Given the description of an element on the screen output the (x, y) to click on. 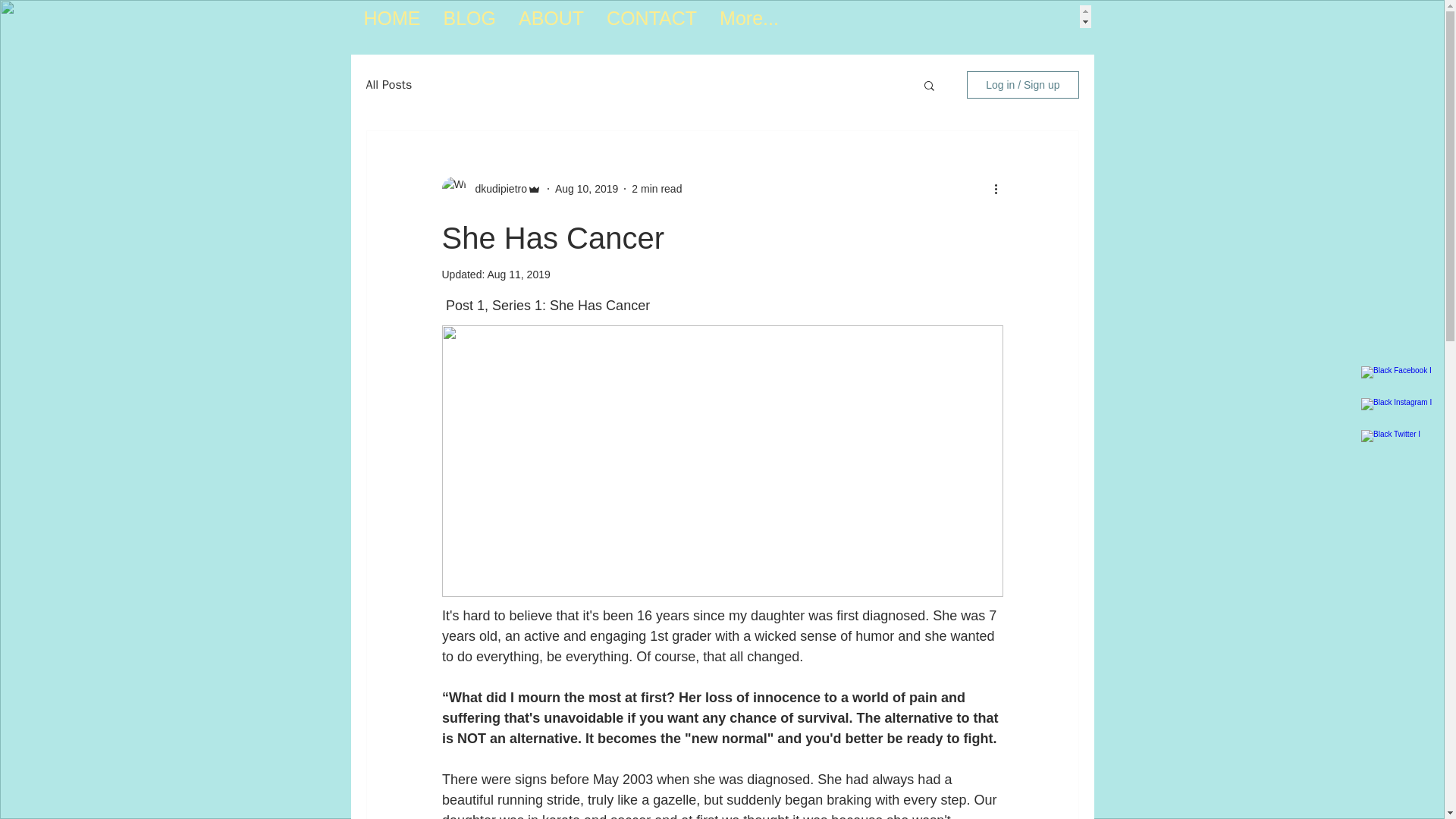
HOME (391, 15)
ABOUT (550, 15)
Aug 11, 2019 (518, 274)
All Posts (388, 84)
dkudipietro (496, 188)
CONTACT (651, 15)
Aug 10, 2019 (585, 187)
2 min read (656, 187)
BLOG (469, 15)
